Given the description of an element on the screen output the (x, y) to click on. 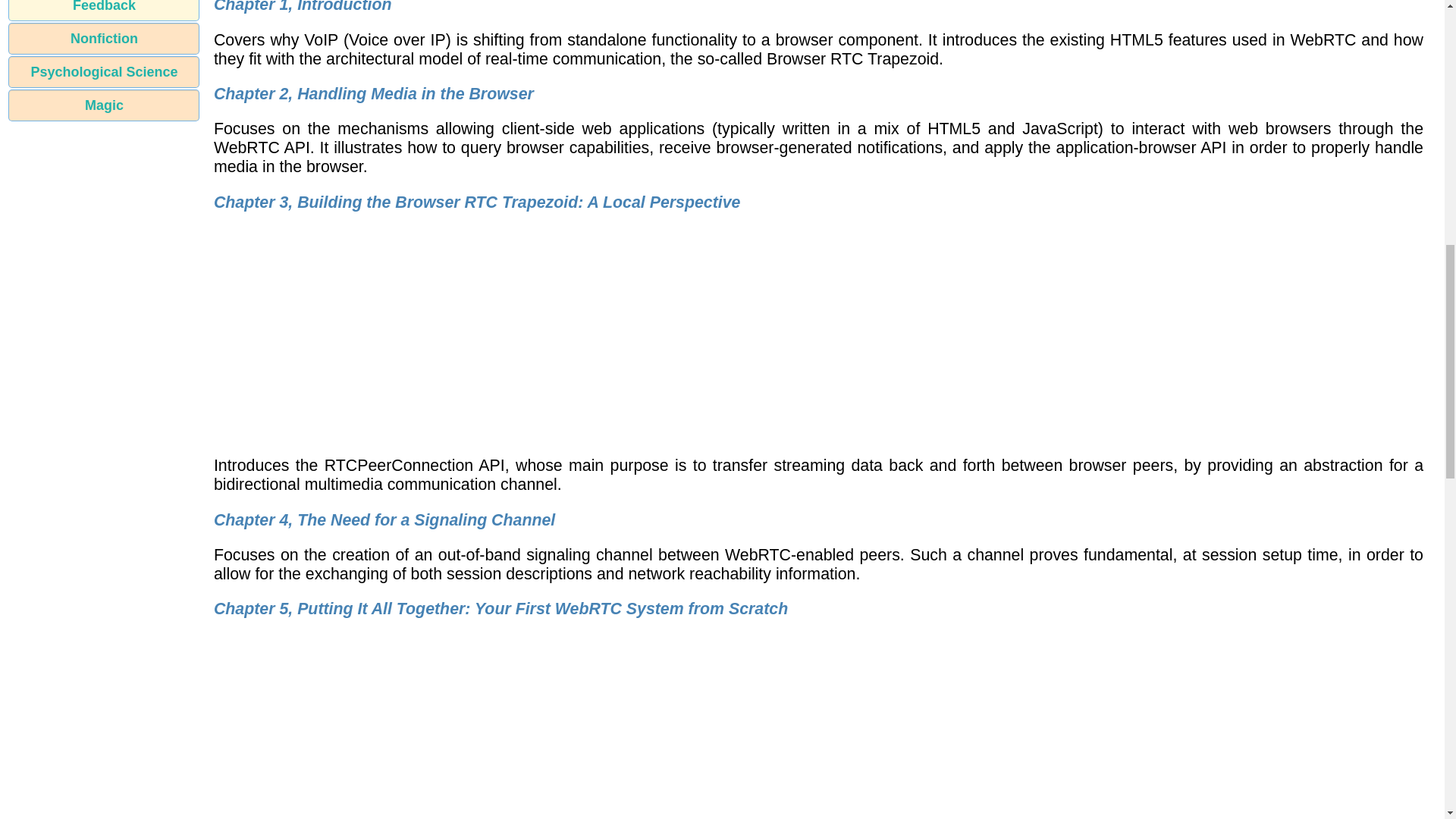
Magic (103, 105)
Feedback (103, 10)
Psychological Science (103, 71)
Nonfiction (103, 38)
